Given the description of an element on the screen output the (x, y) to click on. 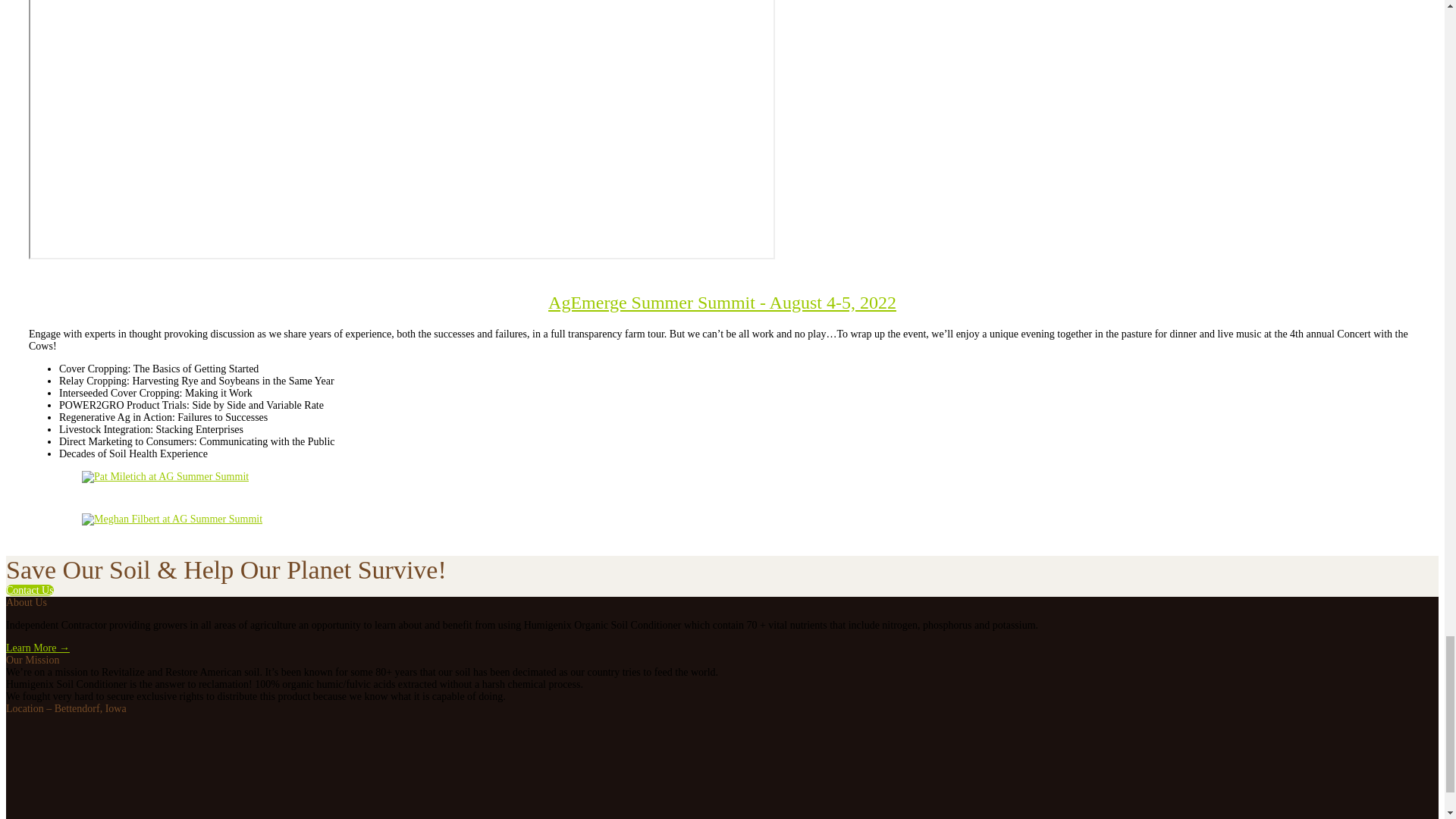
AgEmerge Summer Summit - August 4-5, 2022 (722, 302)
About Us (37, 647)
Meghan-Summer-Summit-2022 (171, 519)
Pat-Summer-Summit-2022 (164, 476)
Contact Us (29, 590)
